Given the description of an element on the screen output the (x, y) to click on. 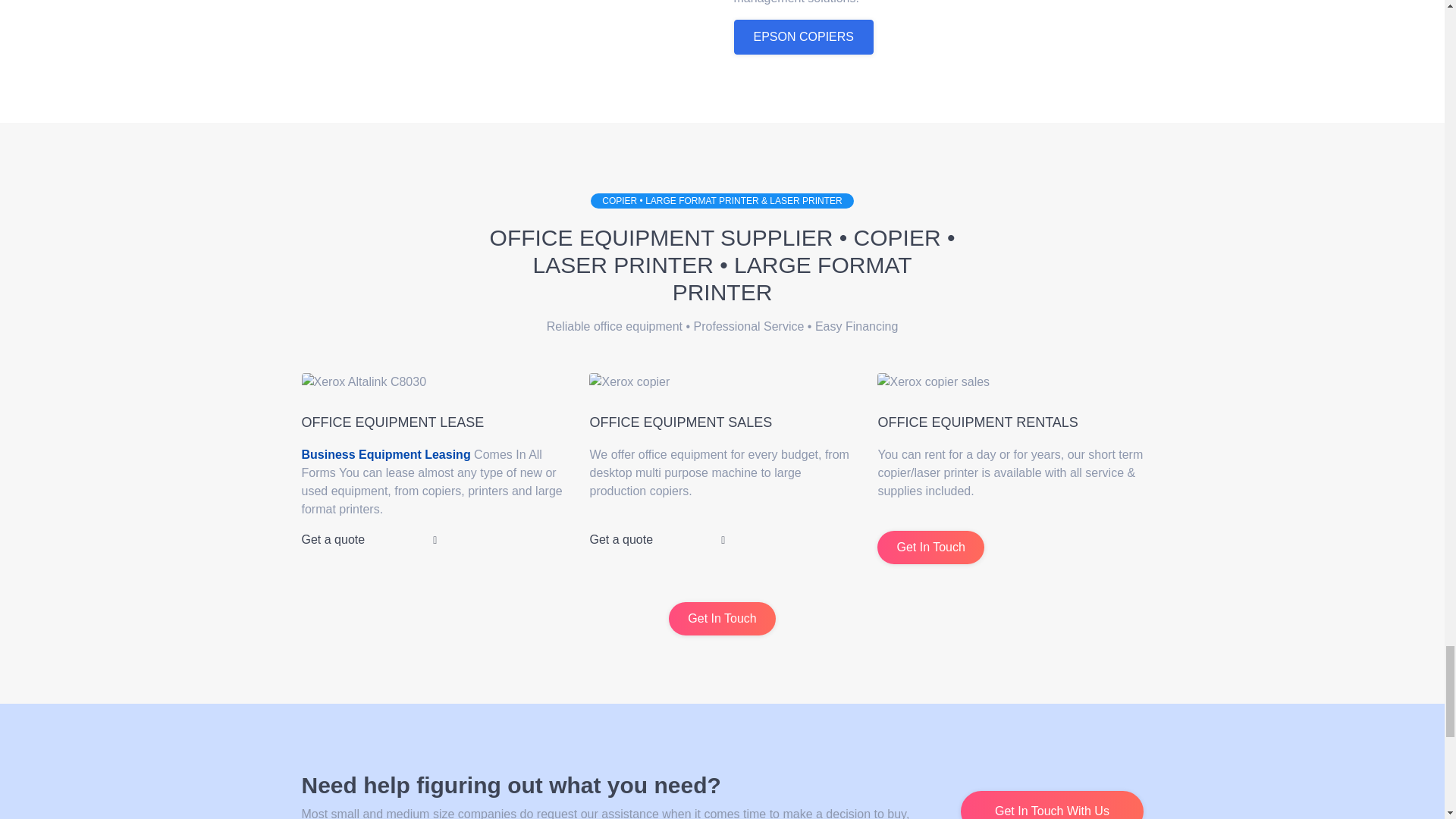
EPSON COPIERS (803, 36)
Get In Touch With Us (1051, 805)
Get In Touch (721, 618)
Get a quote                  (657, 539)
Get In Touch (930, 547)
Get a quote                  (369, 539)
